Given the description of an element on the screen output the (x, y) to click on. 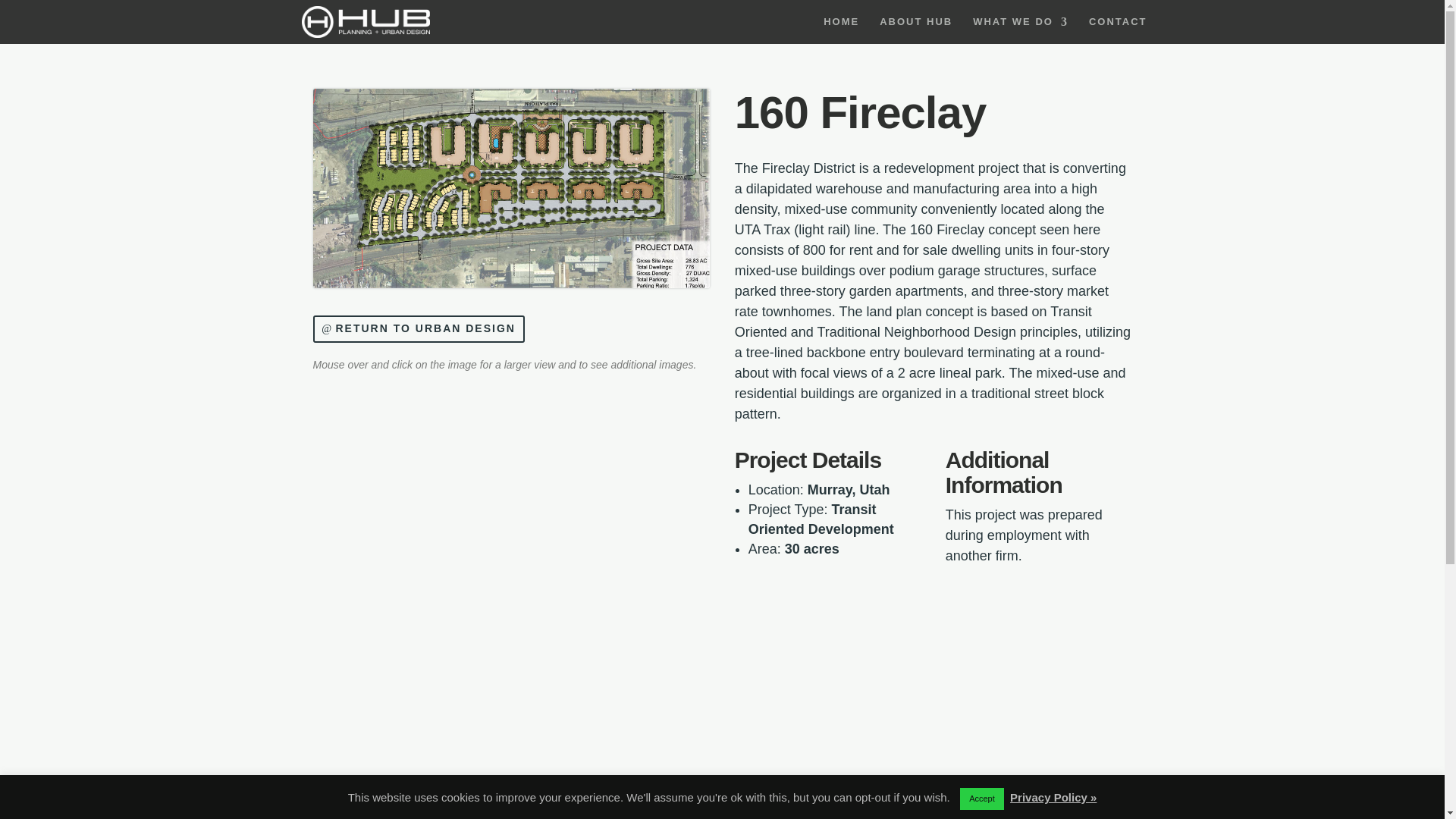
HOME (841, 30)
RETURN TO URBAN DESIGN (418, 329)
Accept (981, 798)
WHAT WE DO (1020, 30)
CONTACT (1118, 30)
160 Fireclay (511, 188)
ABOUT HUB (915, 30)
HUB Plan - Transit Oriented Dev - 160 Fireclay 1 (511, 287)
